Given the description of an element on the screen output the (x, y) to click on. 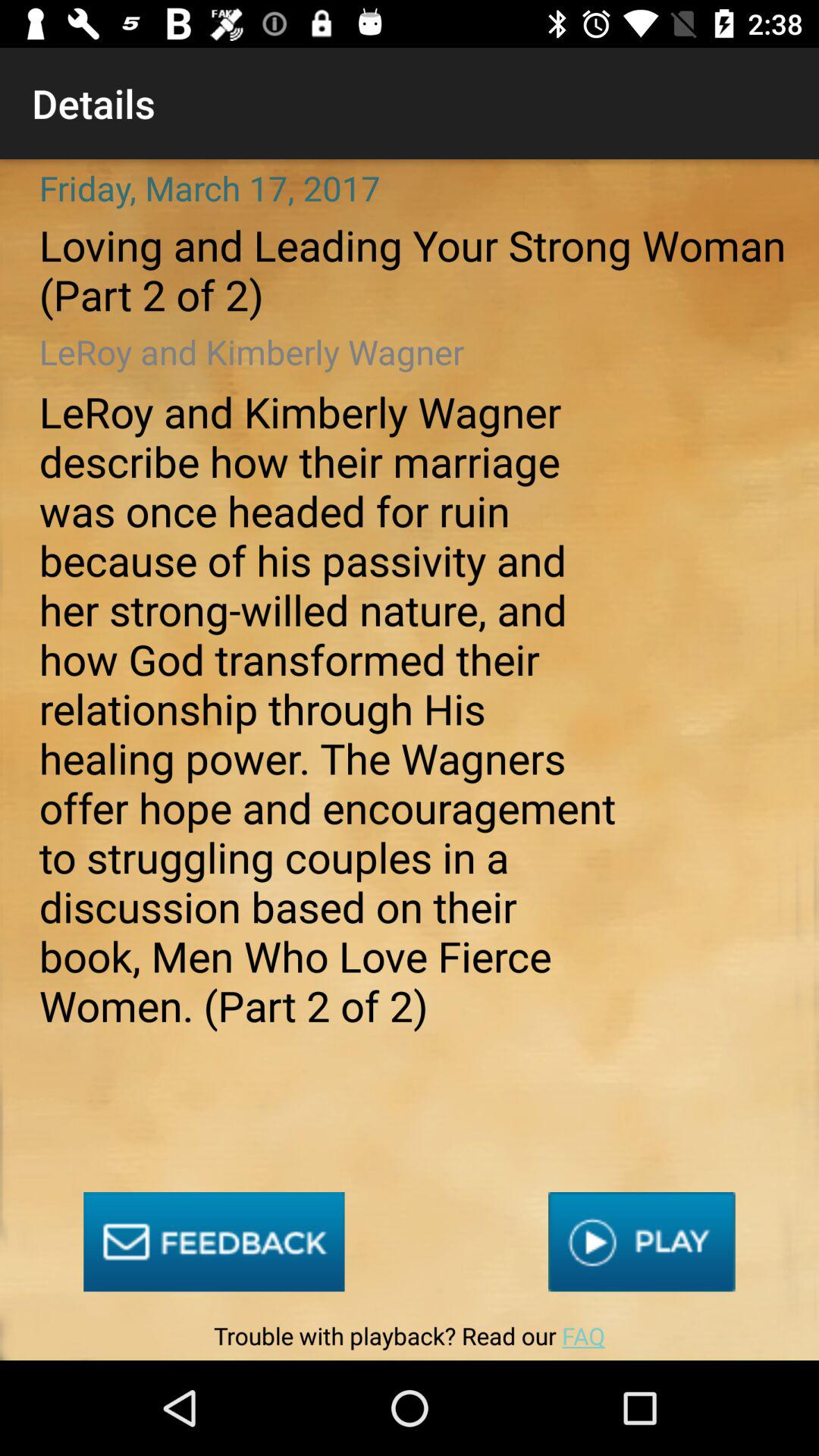
turn off the item above trouble with playback (641, 1241)
